Given the description of an element on the screen output the (x, y) to click on. 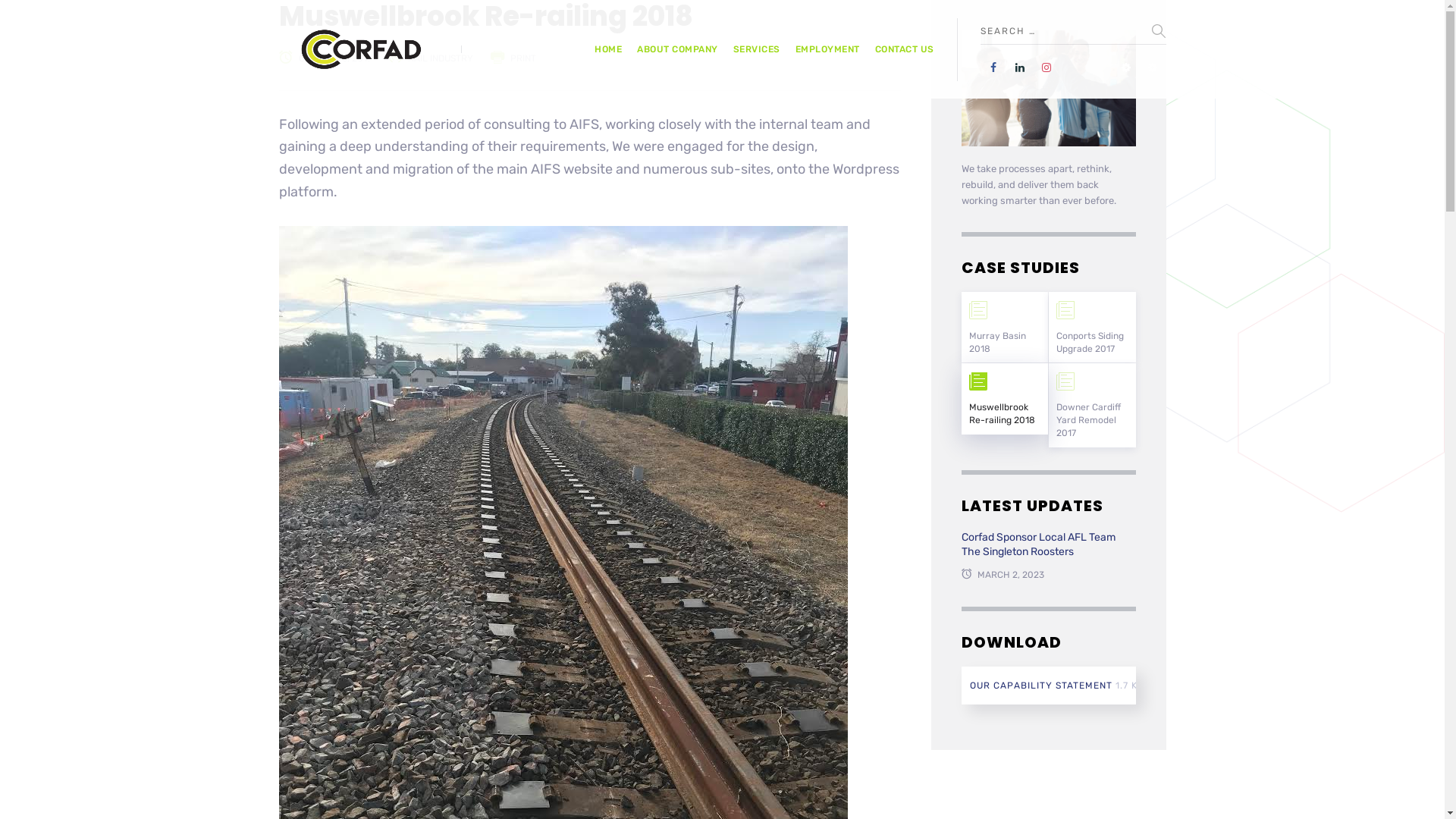
HOME Element type: text (607, 49)
Search Element type: text (7, 7)
RAIL INDUSTRY Element type: text (440, 57)
PRINT Element type: text (522, 57)
SERVICES Element type: text (755, 49)
Corfad Sponsor Local AFL Team The Singleton Roosters Element type: text (1048, 544)
Conports Siding Upgrade 2017 Element type: text (1091, 327)
EMPLOYMENT Element type: text (826, 49)
ABOUT COMPANY Element type: text (677, 49)
Murray Basin 2018 Element type: text (1004, 327)
Search Element type: text (1158, 30)
Downer Cardiff Yard Remodel 2017 Element type: text (1091, 404)
OUR CAPABILITY STATEMENT 1.7 KB Element type: text (1048, 685)
CONTACT US Element type: text (904, 49)
Muswellbrook Re-railing 2018 Element type: text (1004, 398)
